Given the description of an element on the screen output the (x, y) to click on. 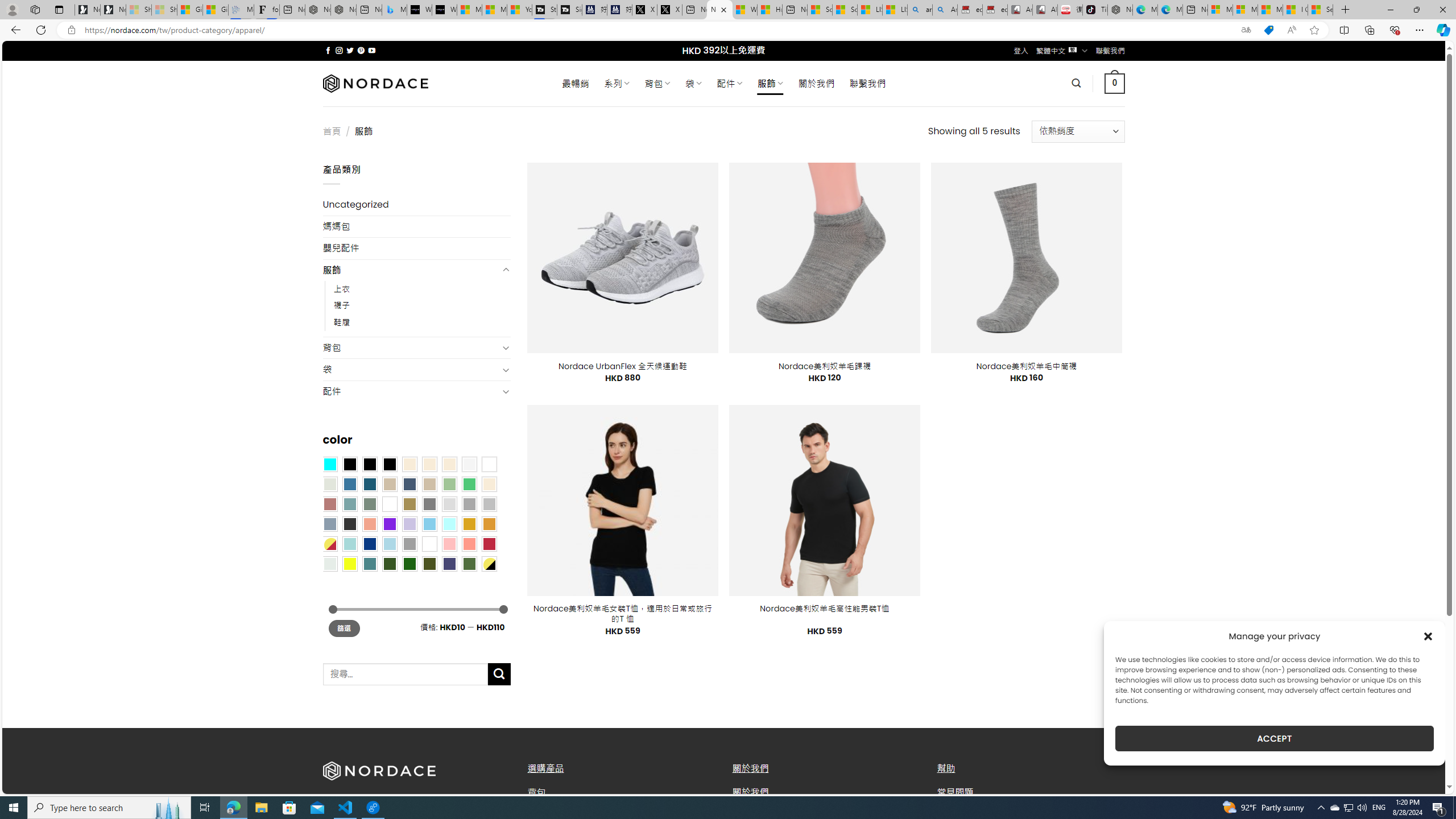
Follow on YouTube (371, 50)
Microsoft Bing Travel - Shangri-La Hotel Bangkok (394, 9)
App bar (728, 29)
